Given the description of an element on the screen output the (x, y) to click on. 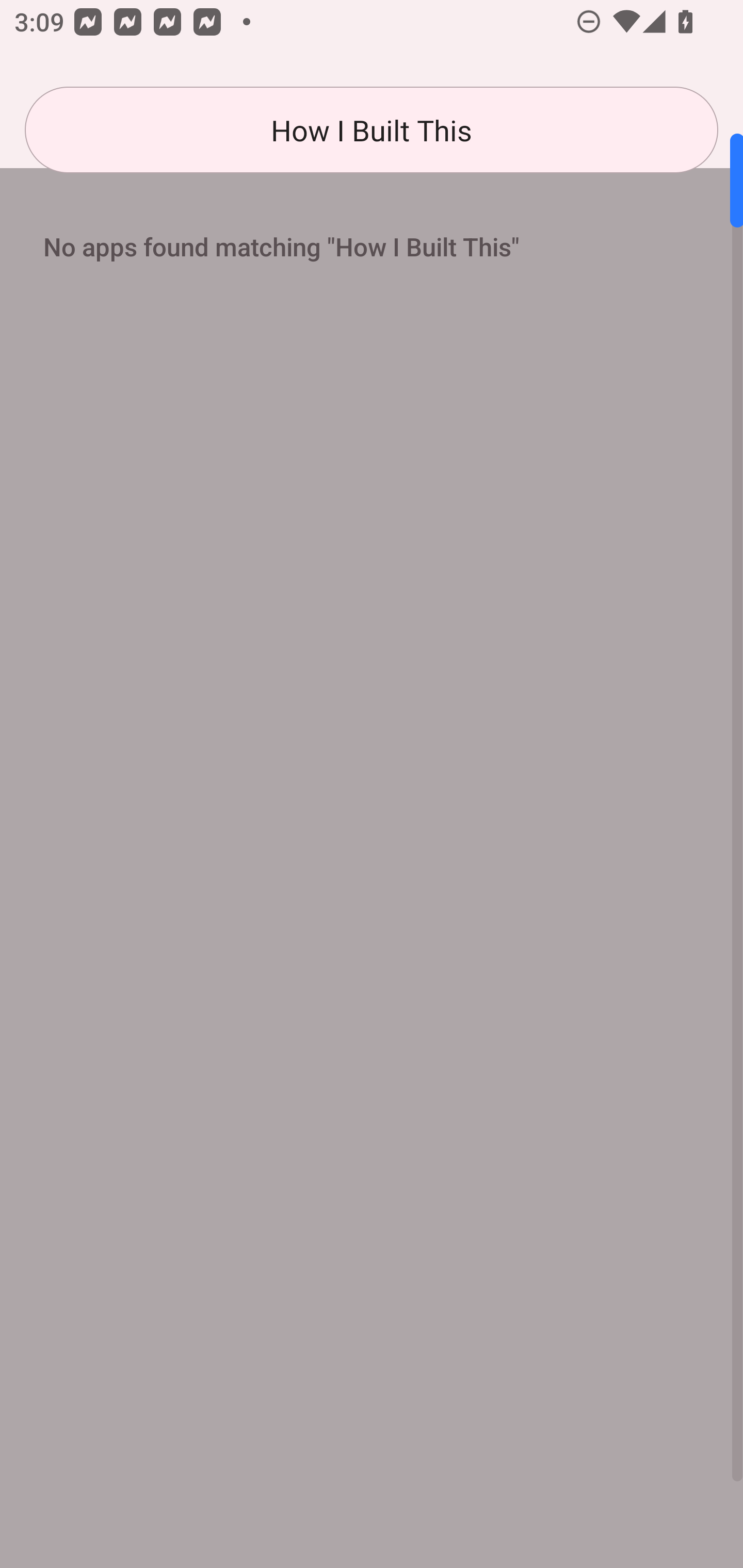
How I Built This (371, 130)
